Given the description of an element on the screen output the (x, y) to click on. 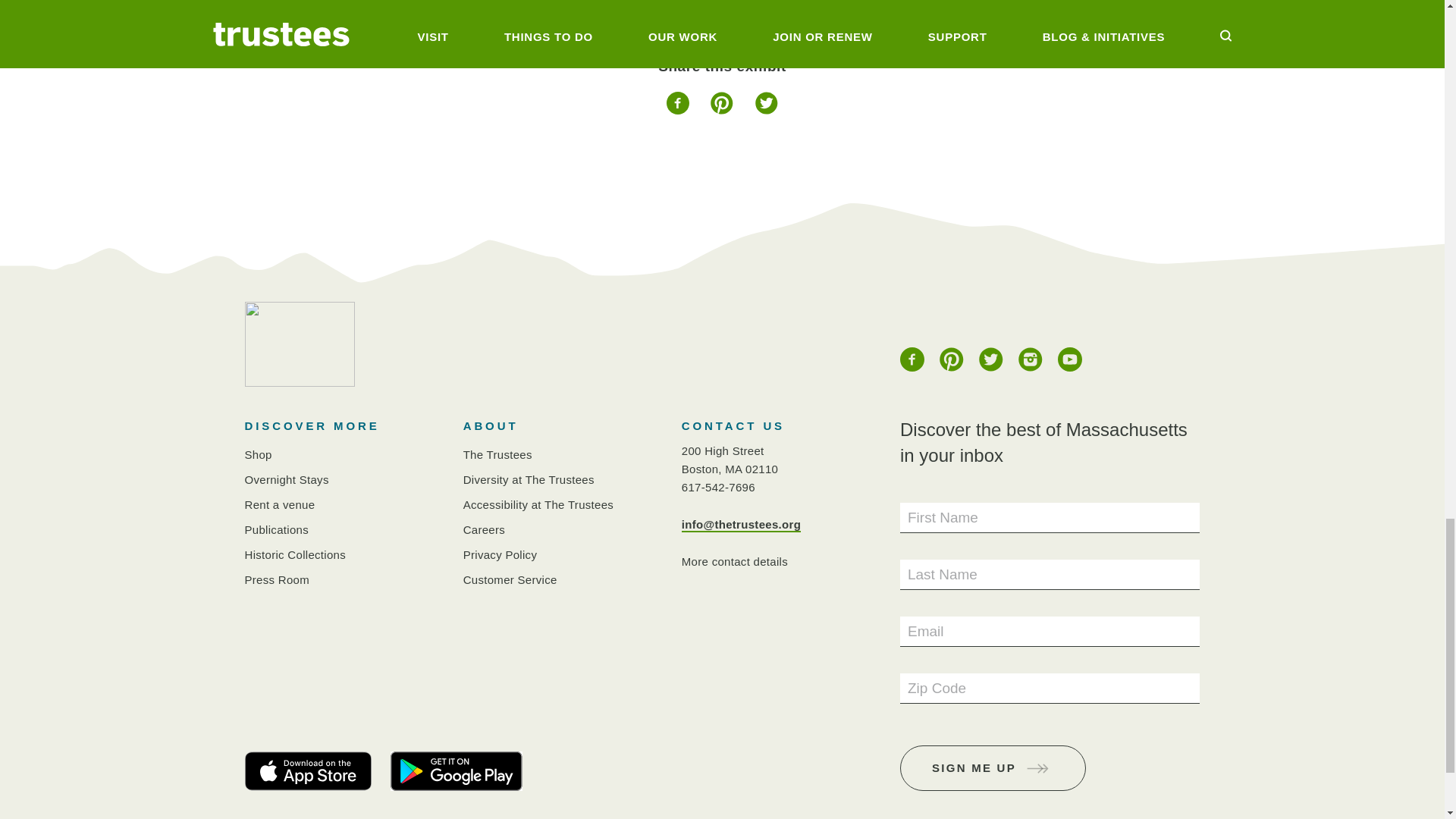
Publications (275, 529)
Historic Collections (295, 554)
The Trustees (497, 454)
SIGN ME UP (992, 768)
Rent a venue (279, 504)
Press Room (276, 579)
Overnight Stays (286, 479)
Shop (257, 454)
